Given the description of an element on the screen output the (x, y) to click on. 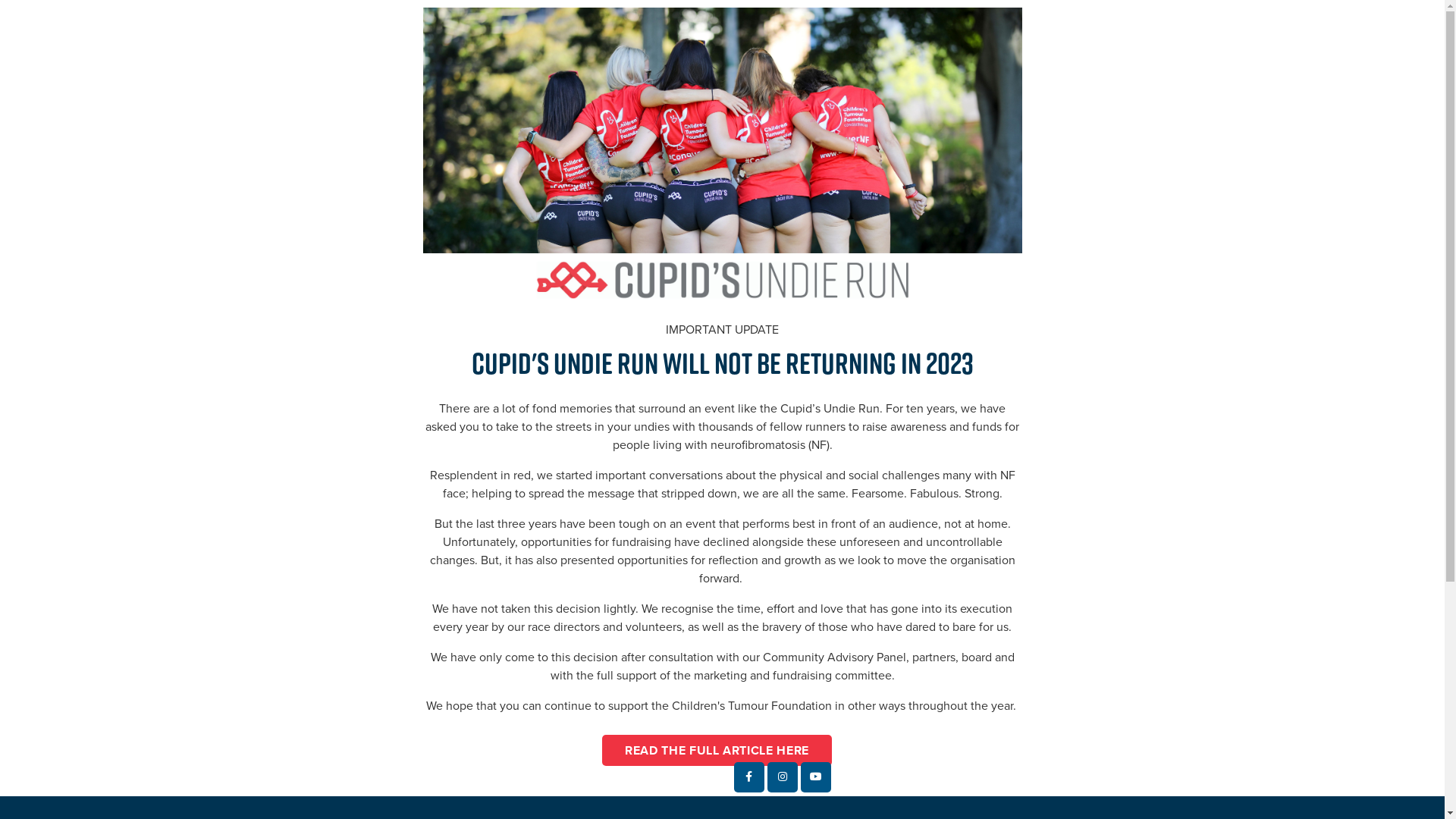
READ THE FULL ARTICLE HERE Element type: text (716, 749)
